Given the description of an element on the screen output the (x, y) to click on. 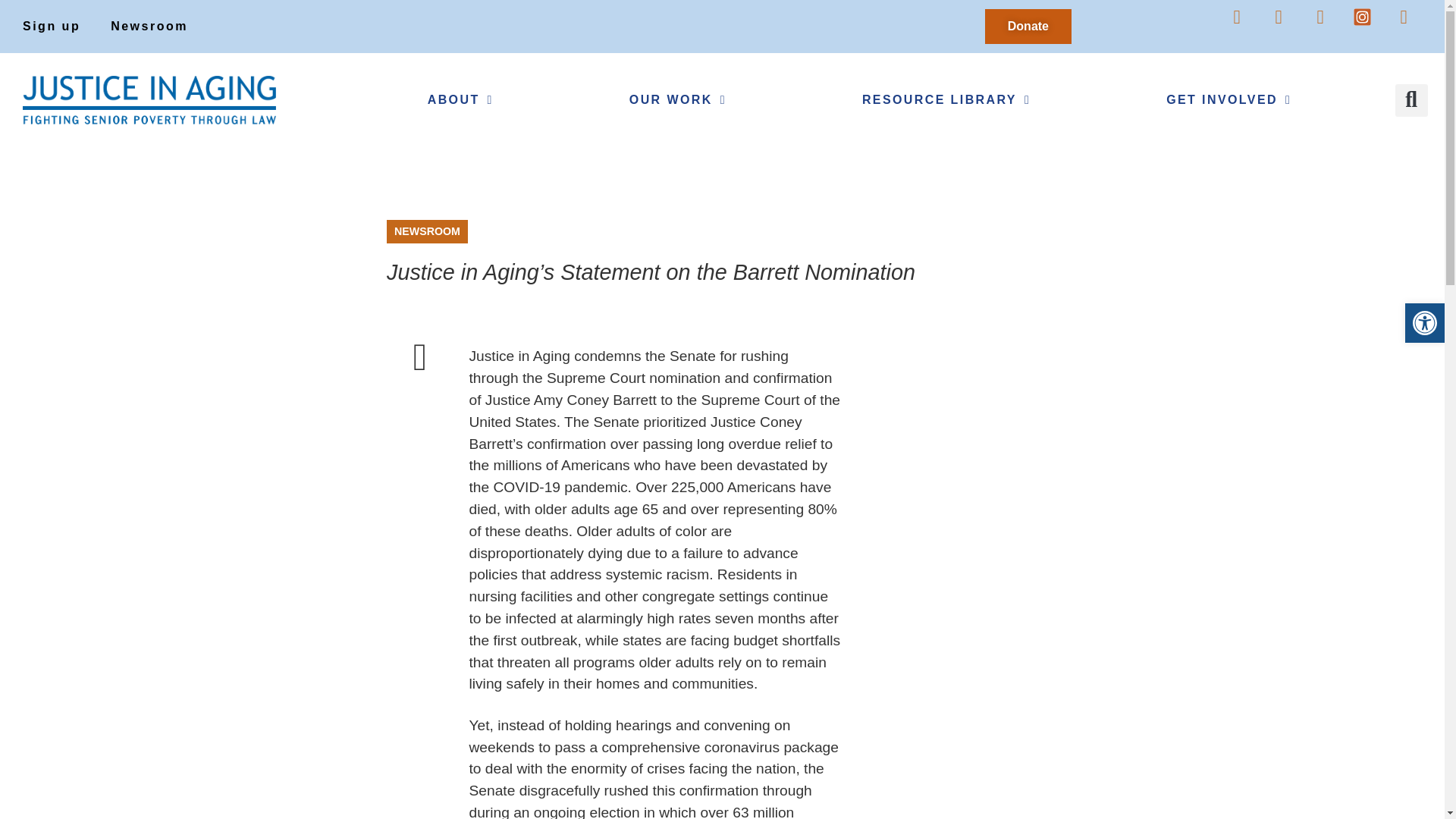
Donate (1028, 26)
Accessibility Tools (1424, 322)
ABOUT (460, 99)
OUR WORK (677, 99)
Newsroom (149, 26)
Sign up (51, 26)
